Given the description of an element on the screen output the (x, y) to click on. 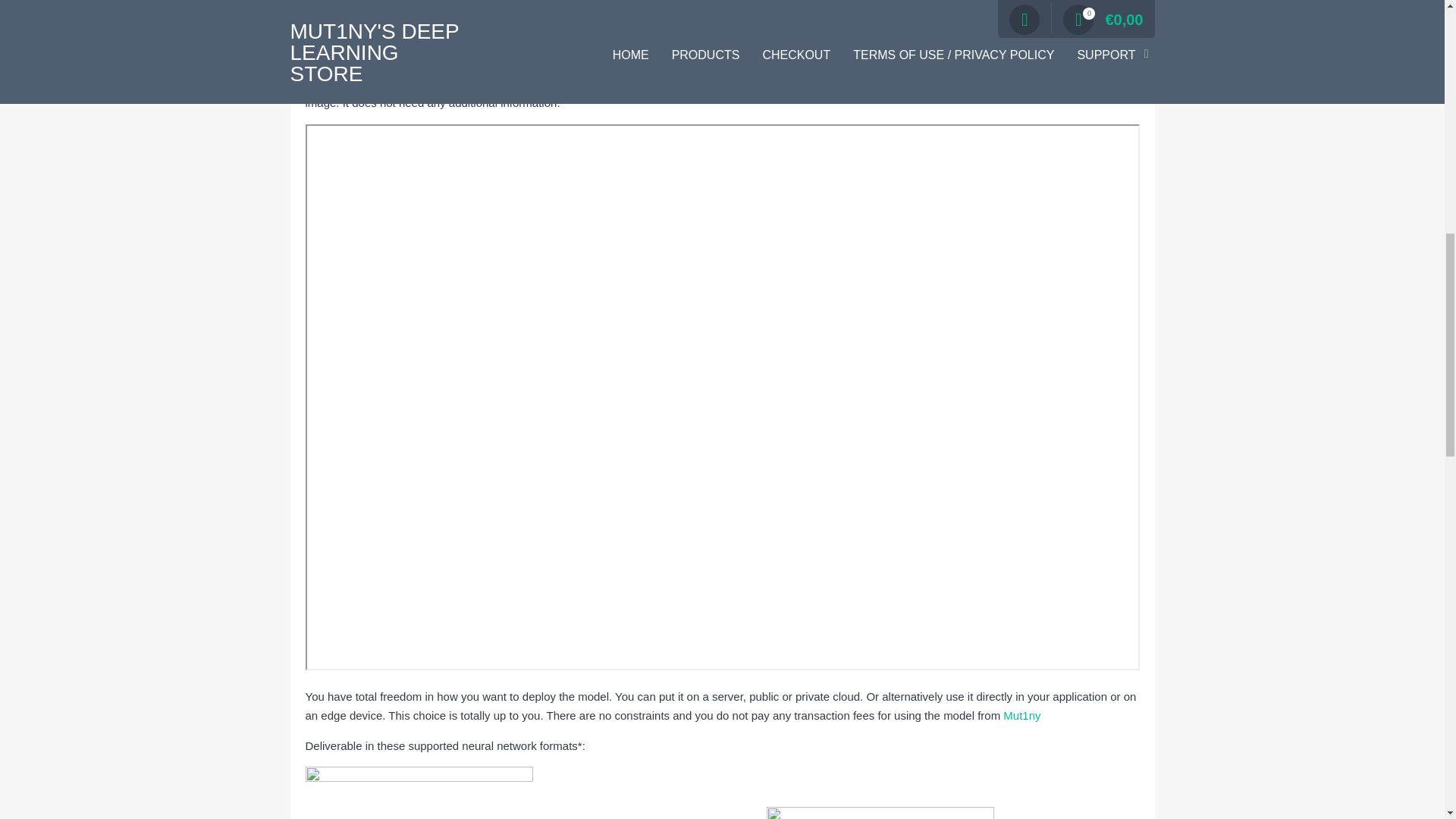
Mut1ny (1022, 715)
